Given the description of an element on the screen output the (x, y) to click on. 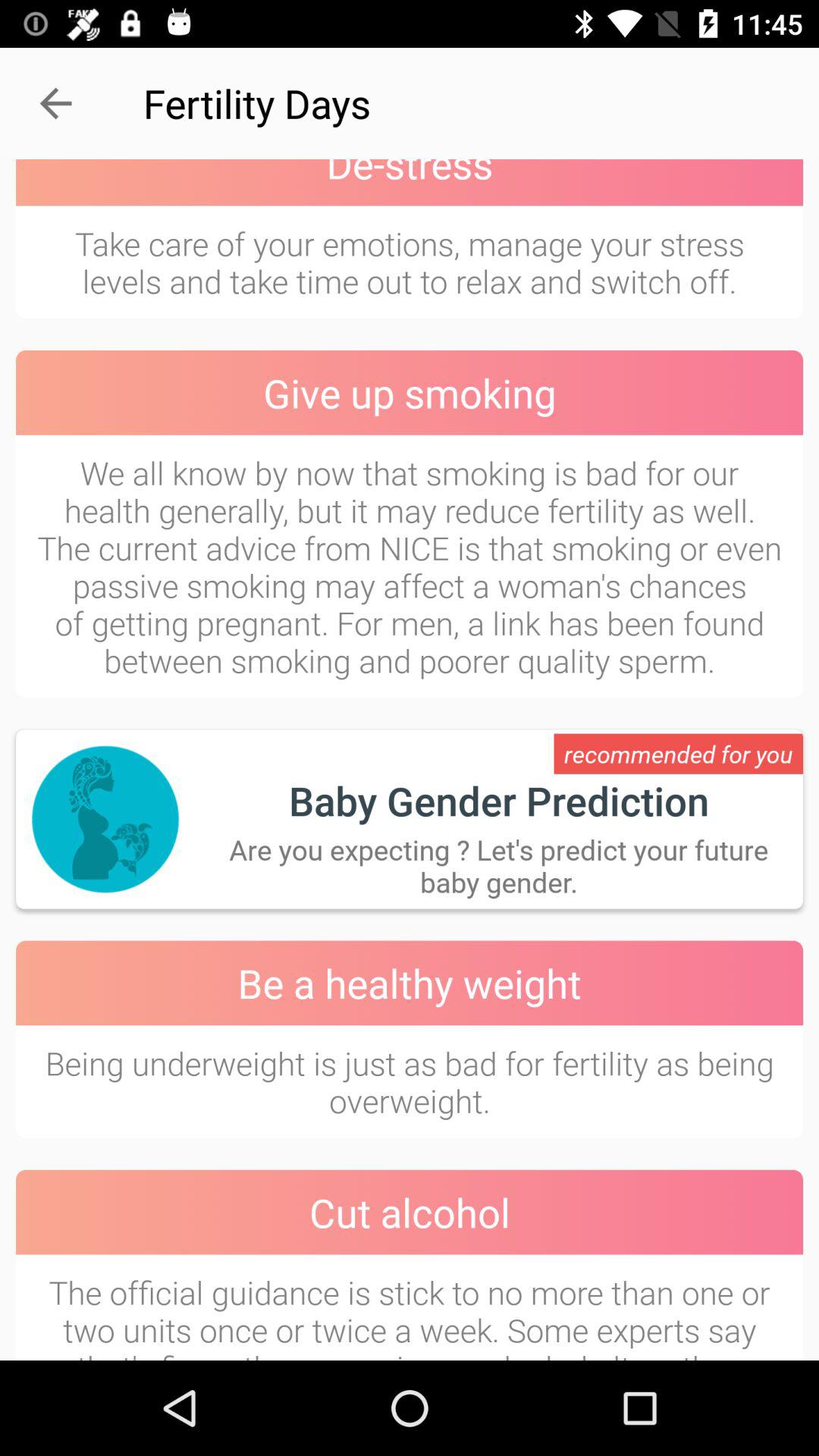
click the icon above the de-stress (55, 103)
